Given the description of an element on the screen output the (x, y) to click on. 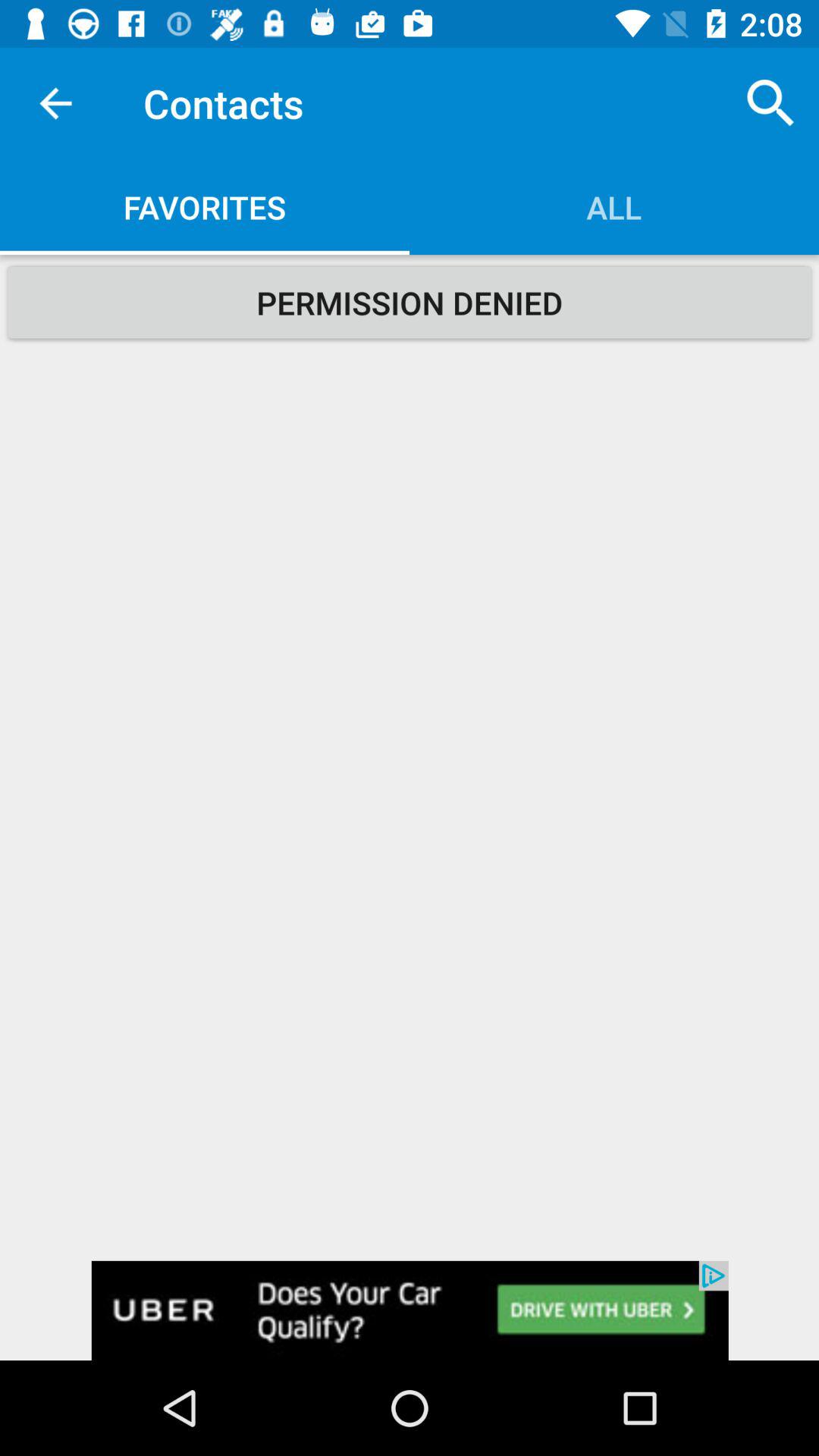
open (409, 1310)
